Given the description of an element on the screen output the (x, y) to click on. 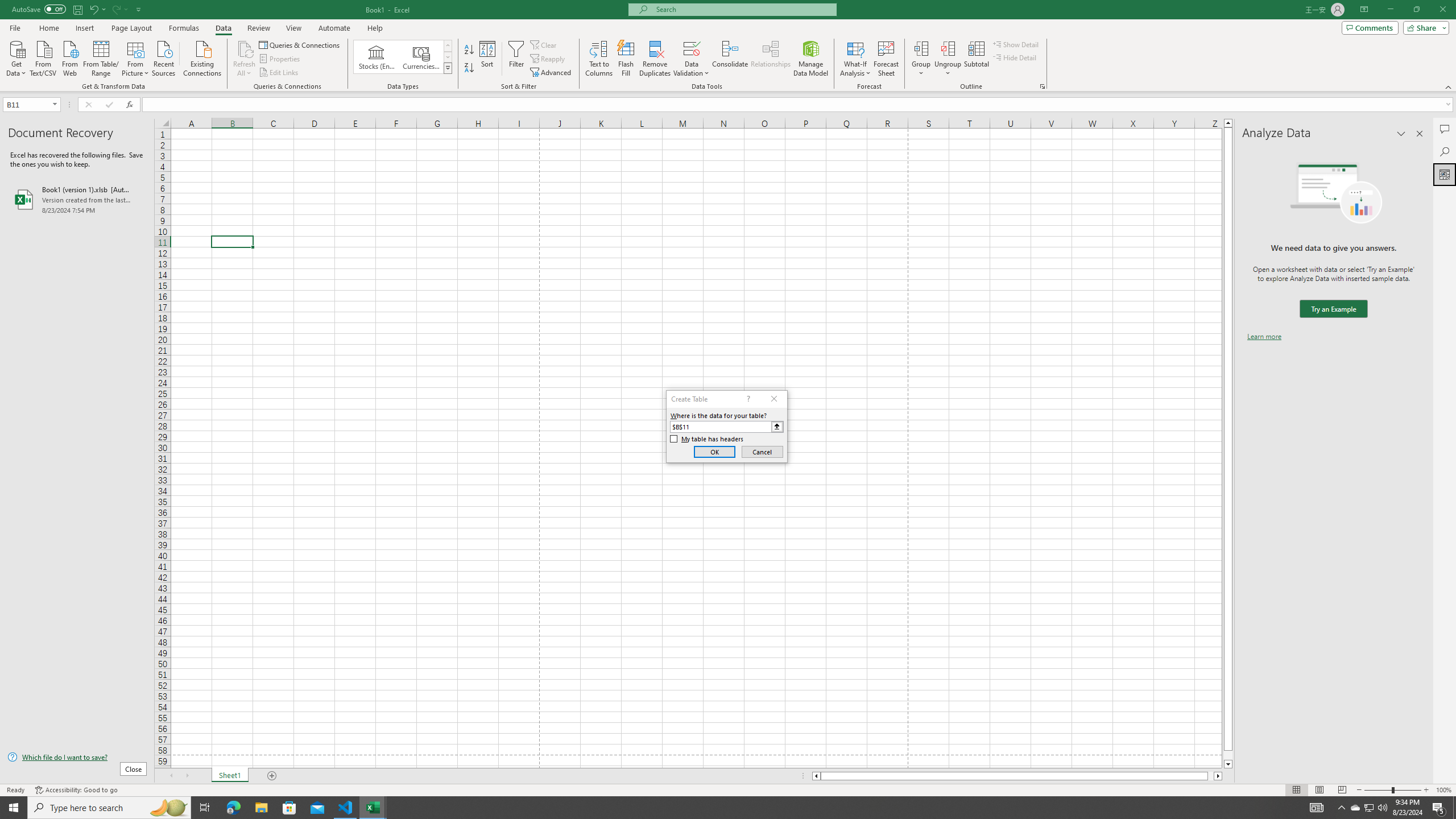
Learn more (1264, 336)
Close pane (1419, 133)
Group... (921, 48)
Show Detail (1016, 44)
Automate (334, 28)
Class: MsoCommandBar (728, 45)
Book1 (version 1).xlsb  [AutoRecovered] (77, 199)
Consolidate... (729, 58)
